Given the description of an element on the screen output the (x, y) to click on. 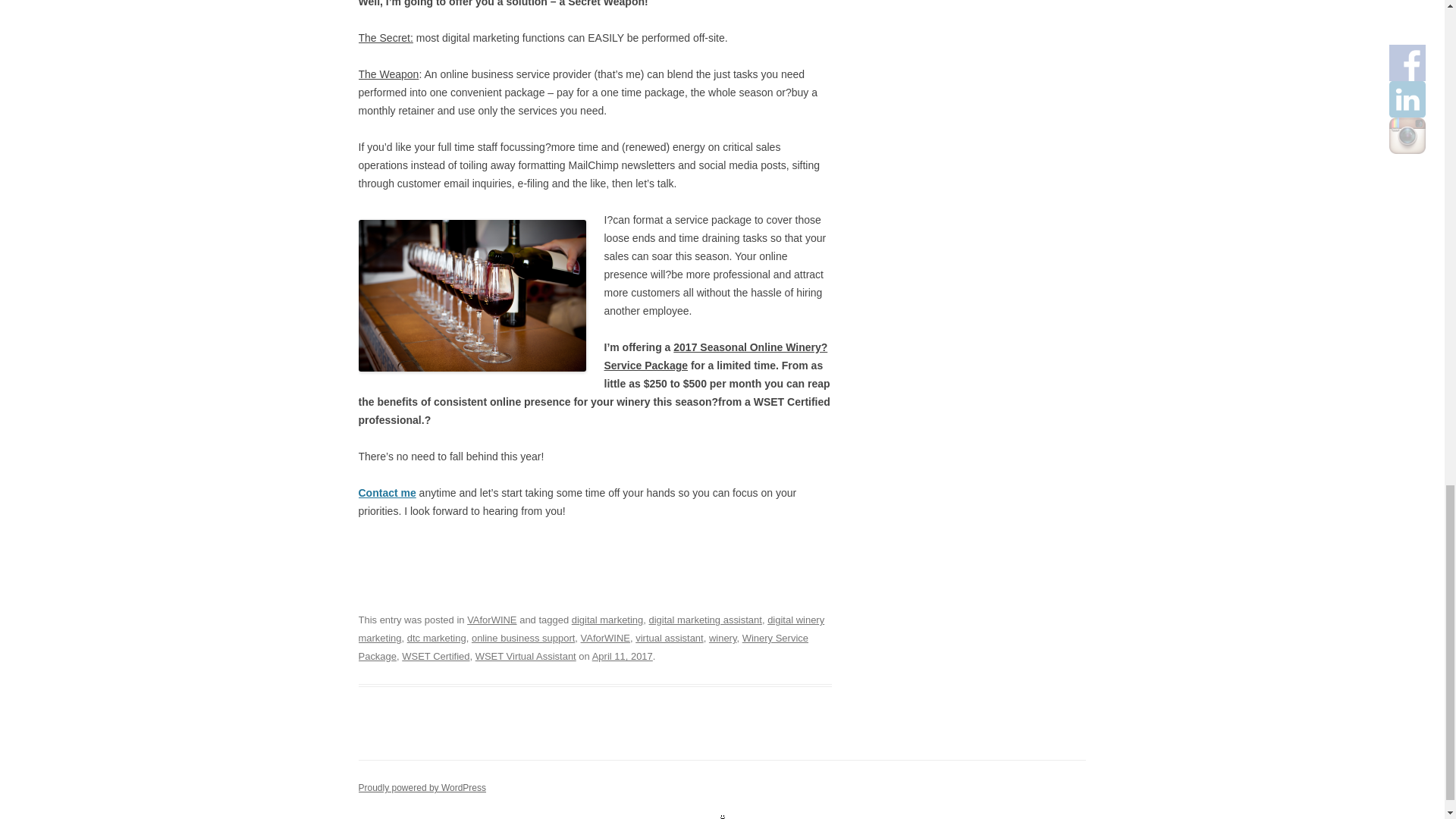
digital winery marketing (591, 628)
Contact me (386, 492)
WSET Virtual Assistant (526, 655)
10:35 am (622, 655)
Winery Service Package (583, 646)
virtual assistant (668, 637)
winery (722, 637)
April 11, 2017 (622, 655)
digital marketing assistant (705, 619)
VAforWINE (605, 637)
